Given the description of an element on the screen output the (x, y) to click on. 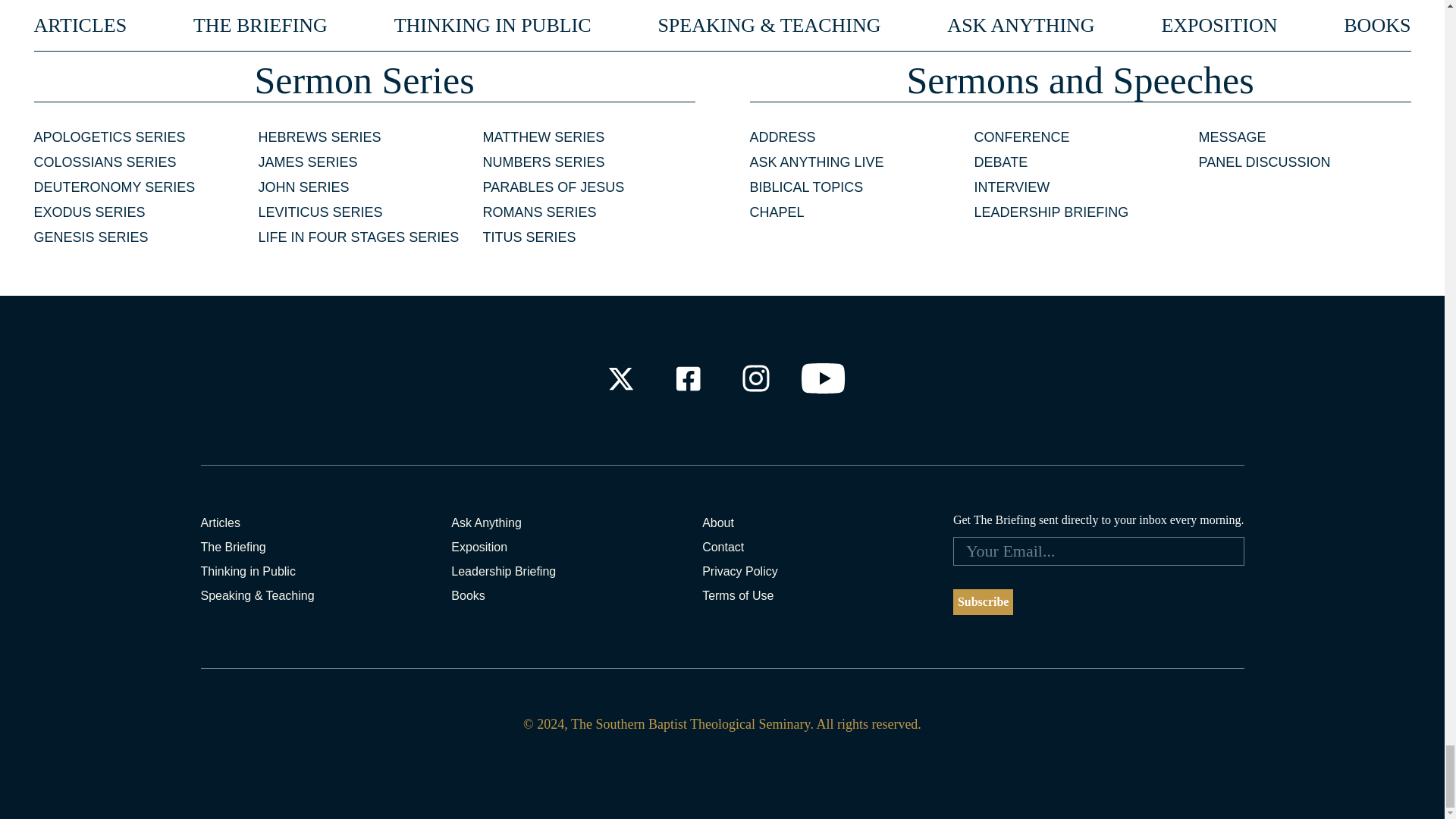
Check out our Facebook Profile (687, 378)
Subscribe (983, 601)
Check out our Instagram Profile (755, 378)
Check out our Youtube Channel (822, 378)
Check out our X Profile (620, 378)
